Given the description of an element on the screen output the (x, y) to click on. 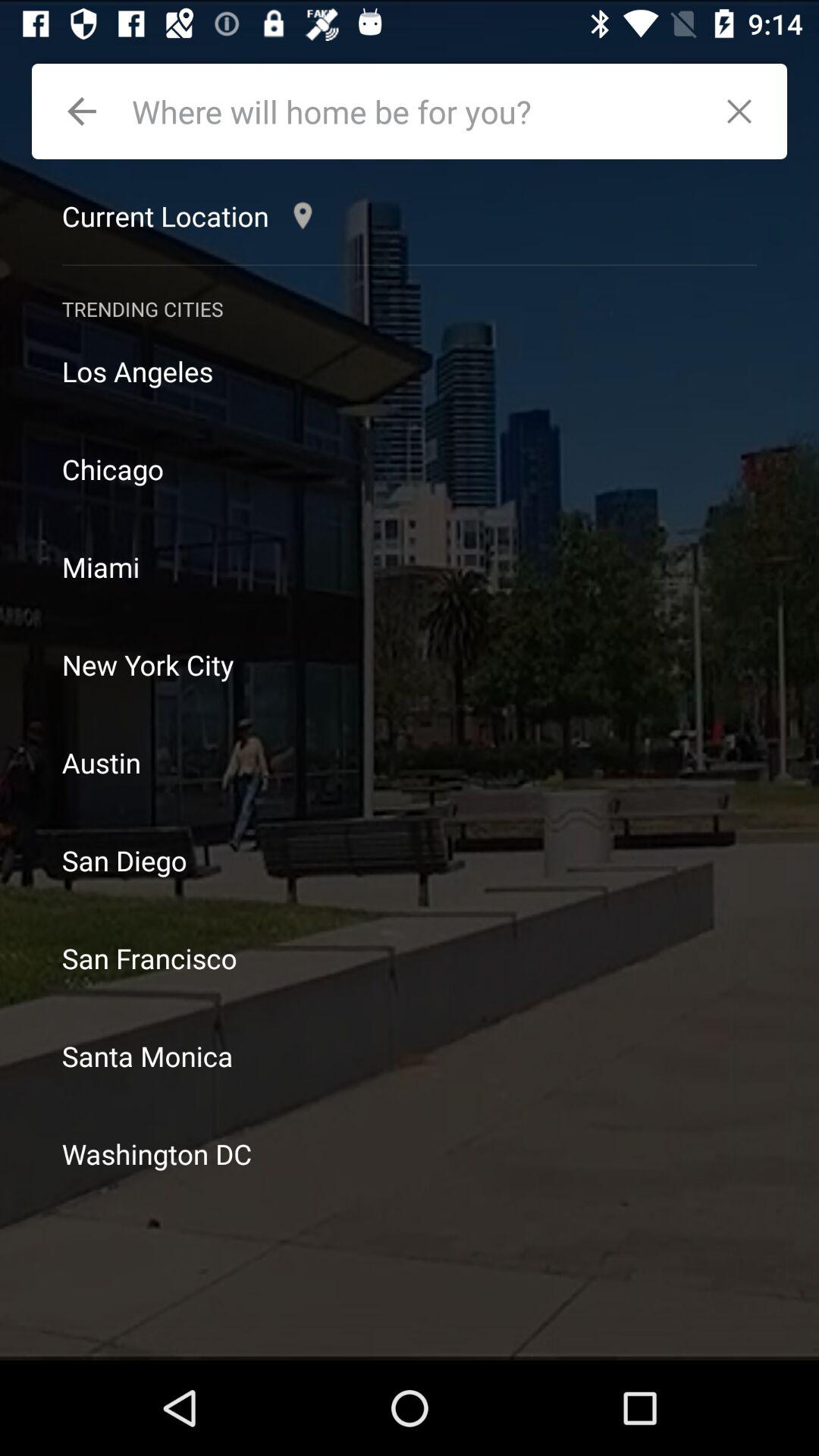
click the san francisco icon (409, 958)
